Given the description of an element on the screen output the (x, y) to click on. 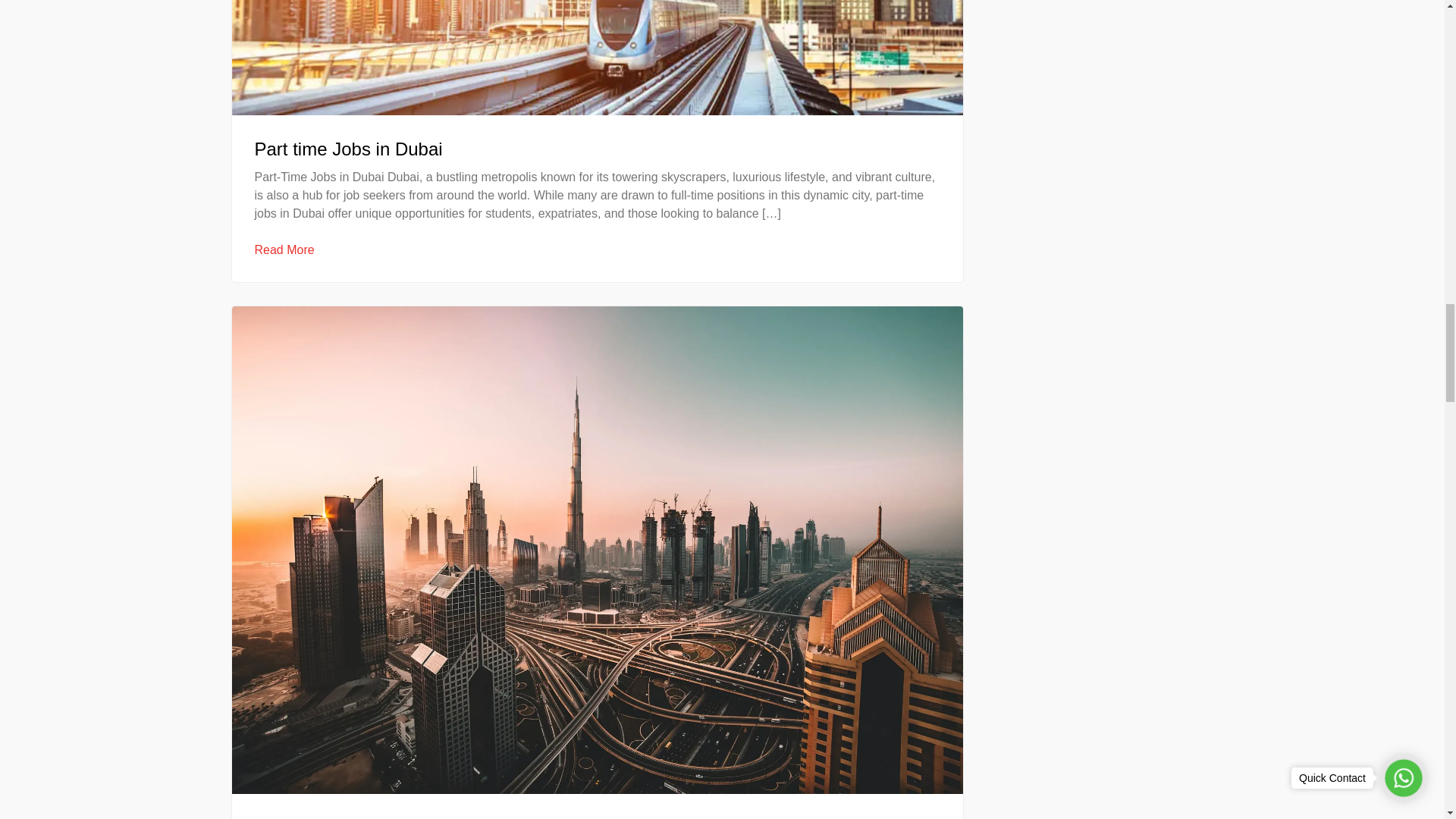
Read More (284, 249)
Part time Jobs in Dubai (348, 149)
Full time jobs (307, 817)
